Given the description of an element on the screen output the (x, y) to click on. 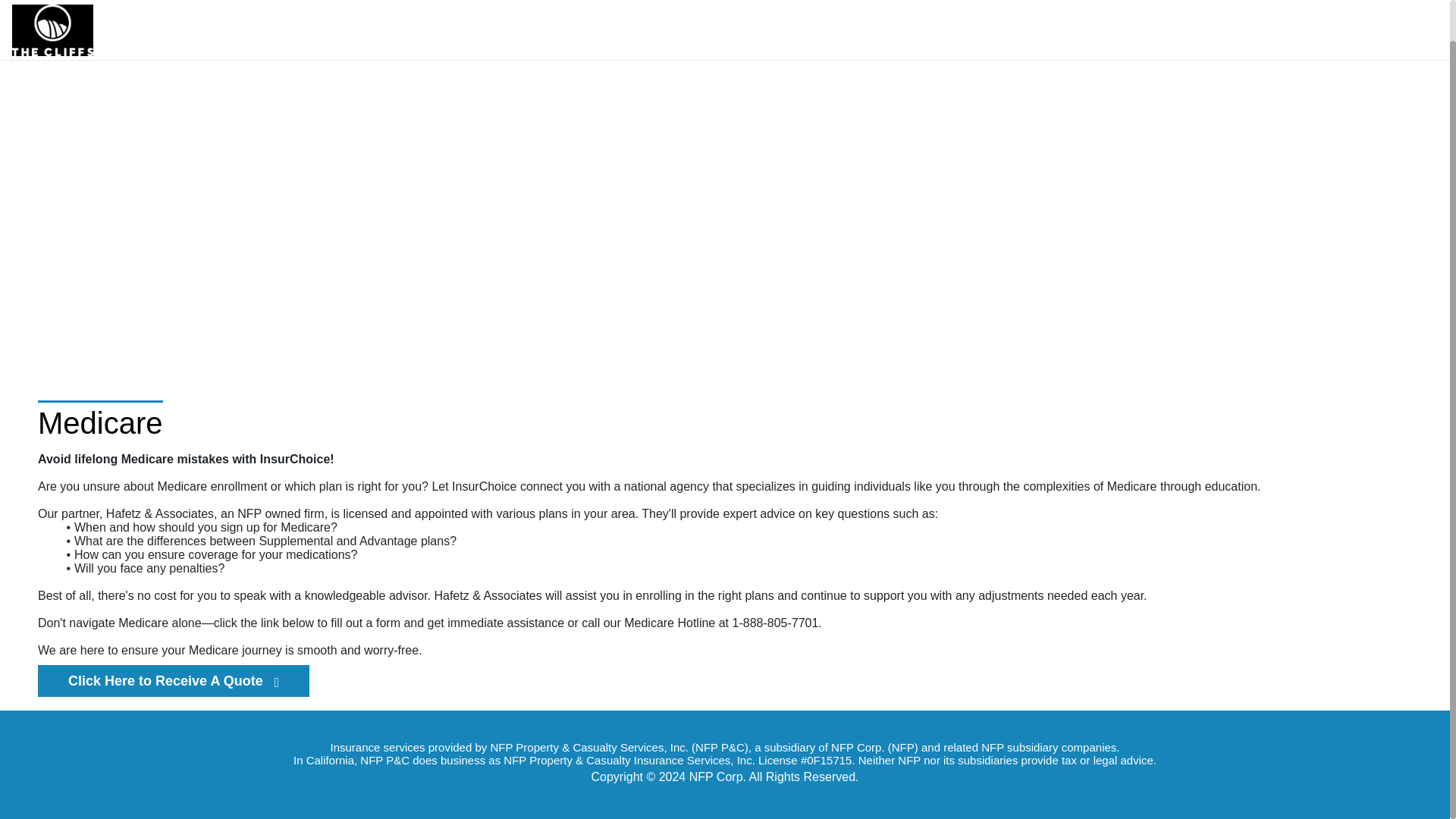
Click Here to Receive A Quote (172, 680)
